Given the description of an element on the screen output the (x, y) to click on. 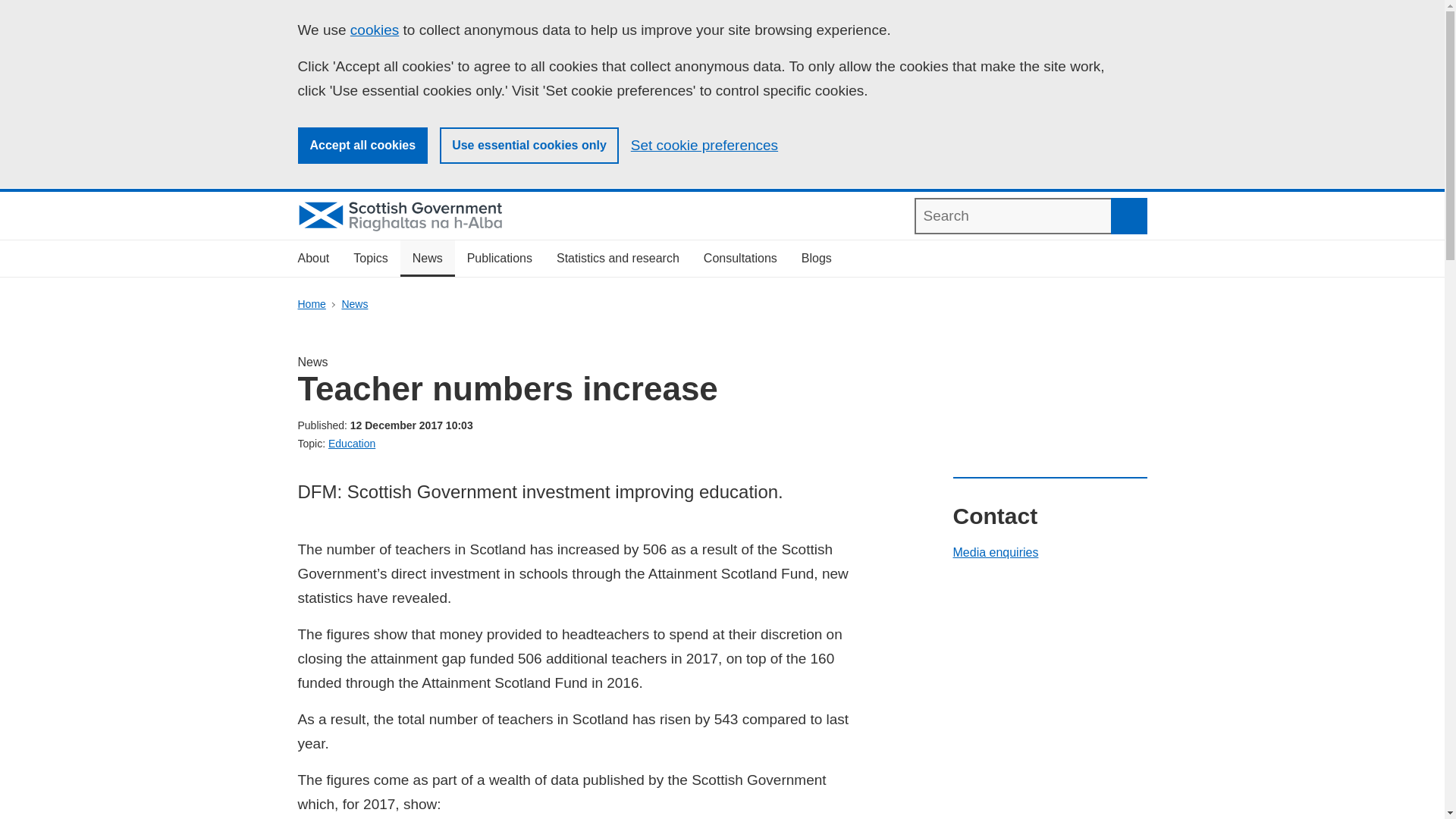
Consultations (740, 258)
Home (310, 304)
News (427, 258)
News (354, 304)
About (312, 258)
Topics (369, 258)
Media enquiries (995, 552)
Blogs (816, 258)
